Given the description of an element on the screen output the (x, y) to click on. 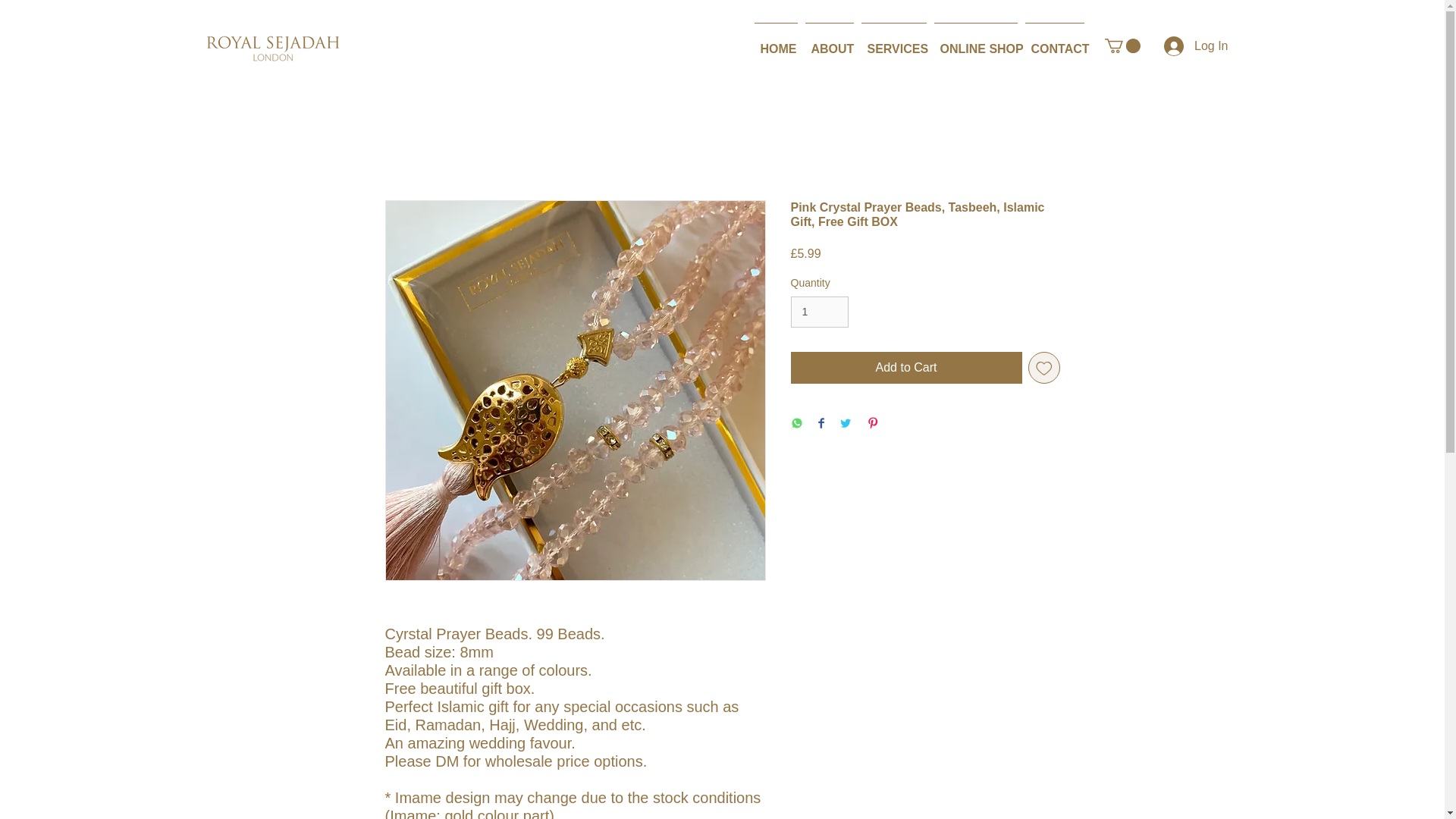
ONLINE SHOP (975, 41)
SERVICES (893, 41)
1 (818, 311)
ABOUT (828, 41)
HOME (776, 41)
Add to Cart (906, 368)
Log In (1196, 45)
CONTACT (1053, 41)
